Given the description of an element on the screen output the (x, y) to click on. 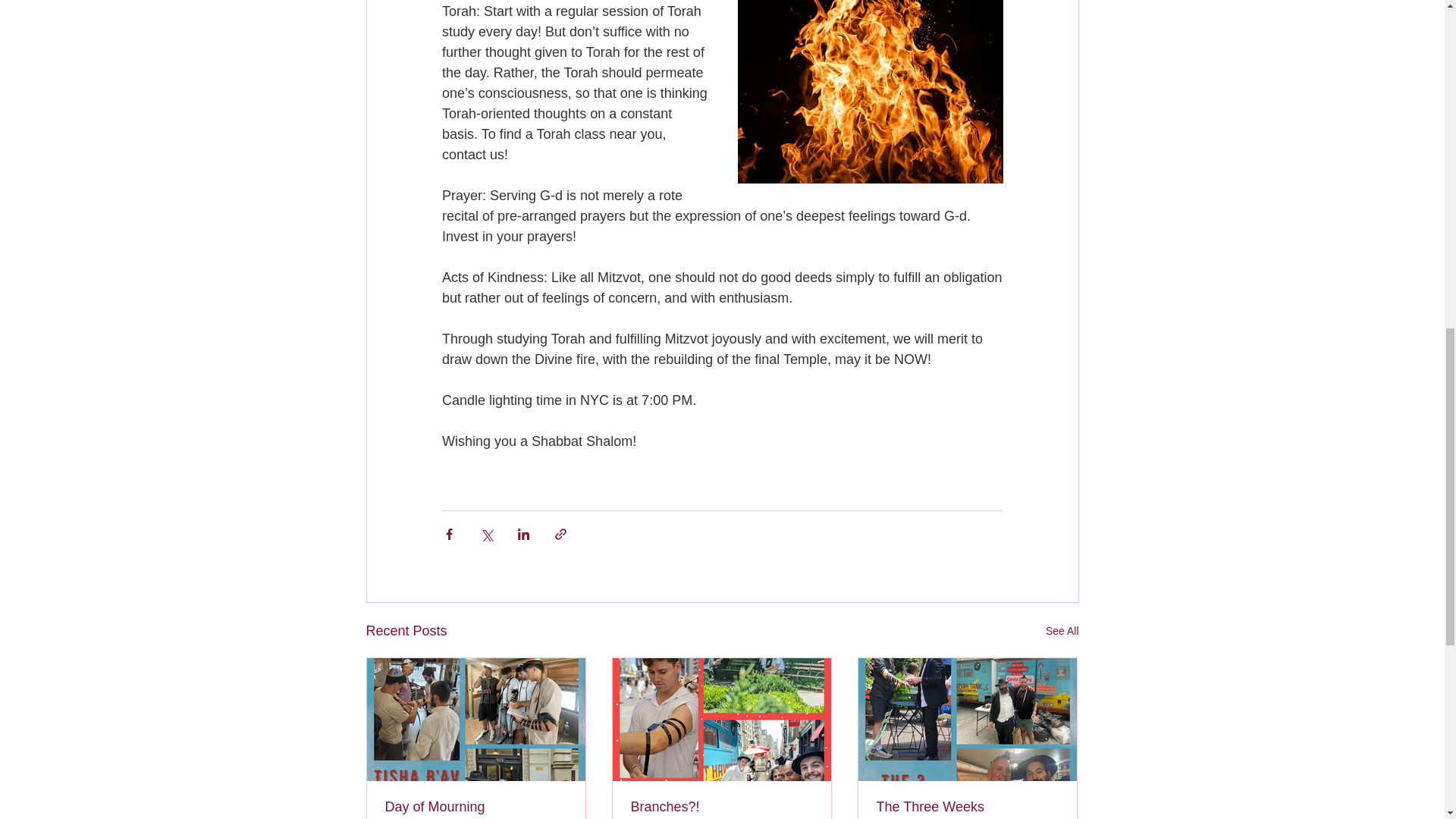
Branches?! (721, 806)
Day of Mourning (476, 806)
See All (1061, 630)
The Three Weeks (967, 806)
